Given the description of an element on the screen output the (x, y) to click on. 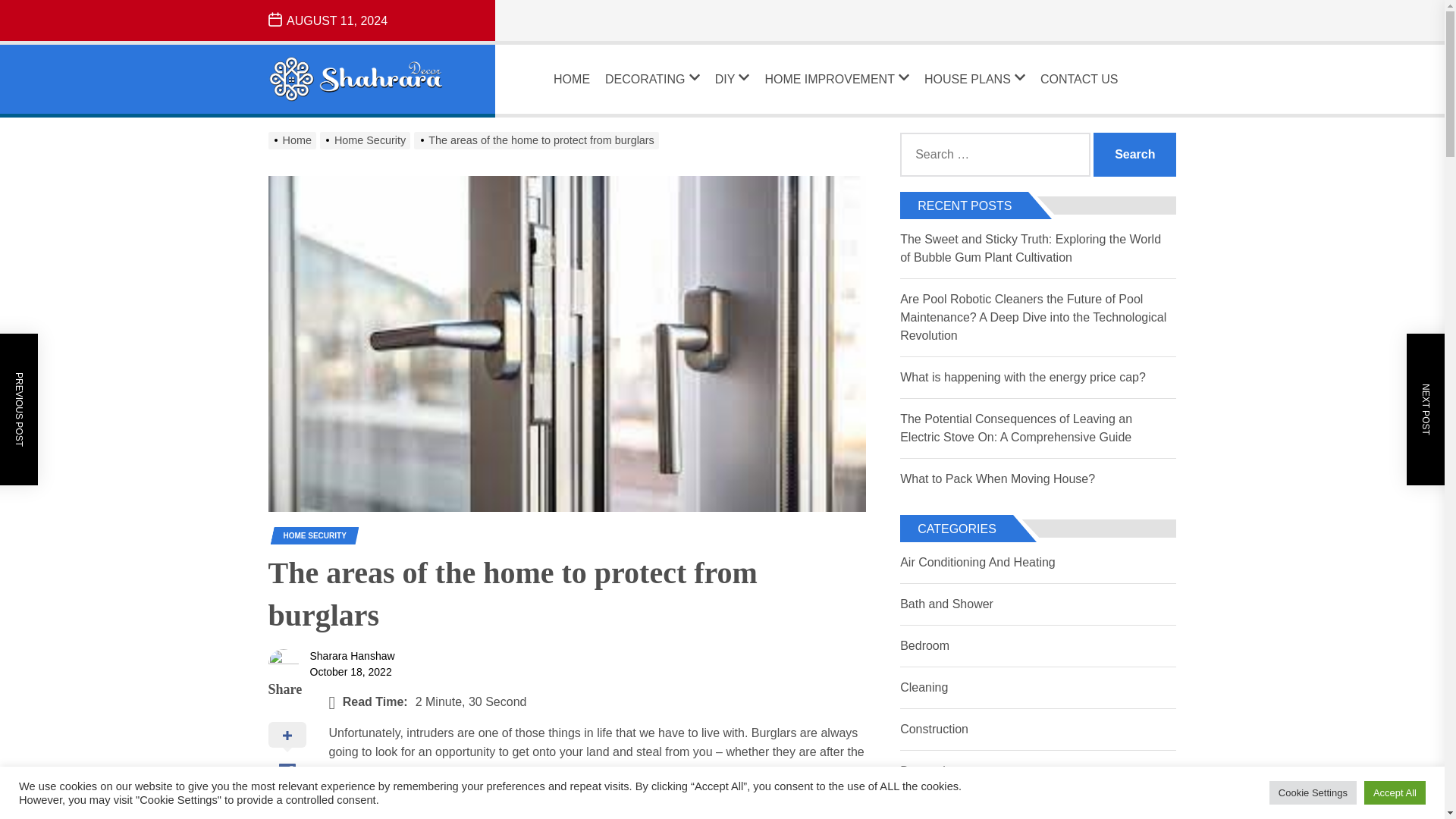
The areas of the home to protect from burglars (537, 140)
October 18, 2022 (349, 672)
Home Security (366, 140)
Search (1134, 154)
HOME (571, 79)
Search (1134, 154)
Home (293, 140)
DECORATING (652, 78)
CONTACT US (1079, 79)
HOME SECURITY (314, 535)
